Given the description of an element on the screen output the (x, y) to click on. 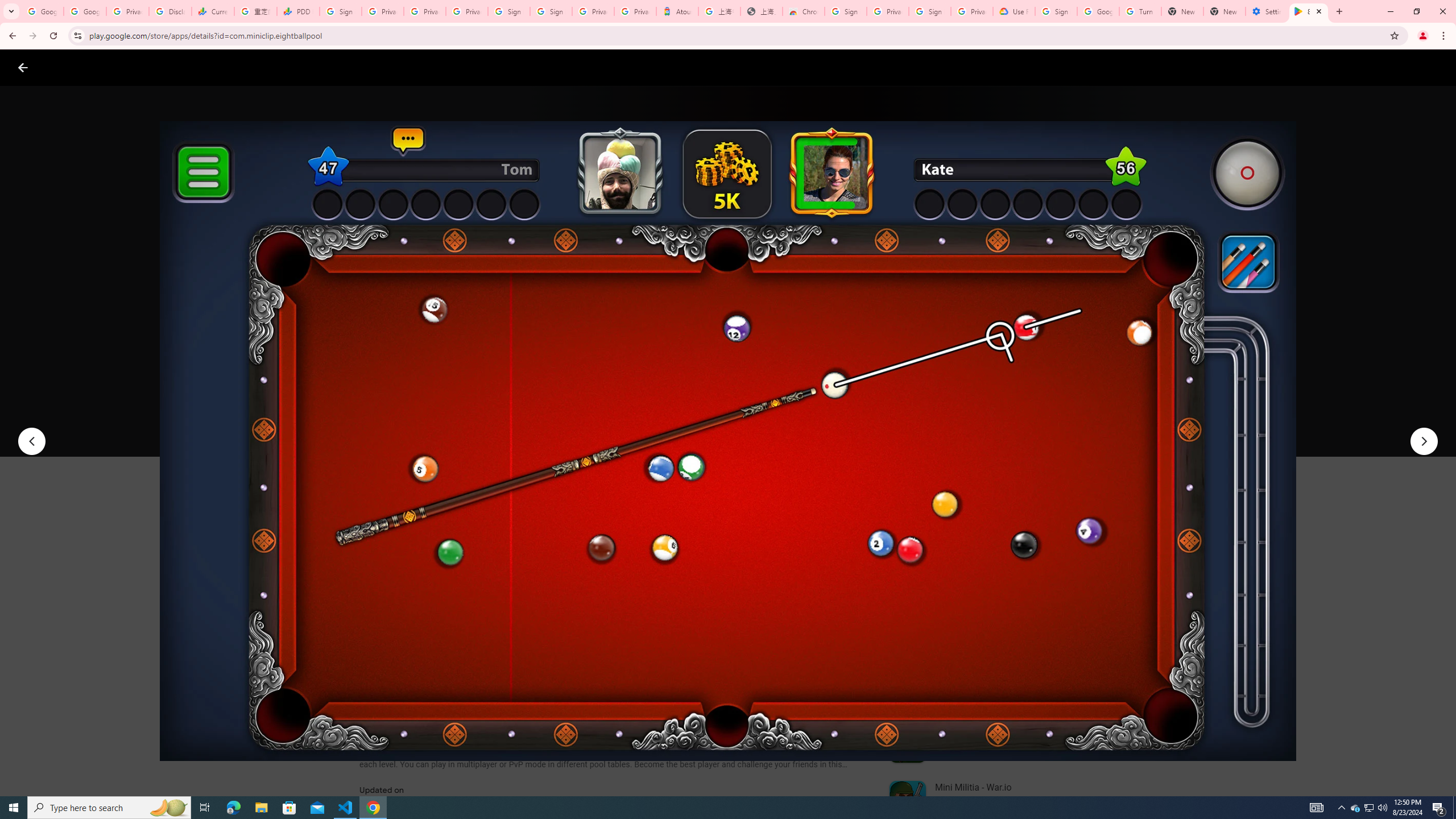
Sign in - Google Accounts (340, 11)
Atour Hotel - Google hotels (676, 11)
Screenshot image (817, 563)
Open account menu (1436, 67)
Chrome Web Store - Color themes by Chrome (803, 11)
Add to wishlist (576, 422)
Close screenshot viewer (22, 67)
See more information on More by Miniclip.com (1029, 539)
